Given the description of an element on the screen output the (x, y) to click on. 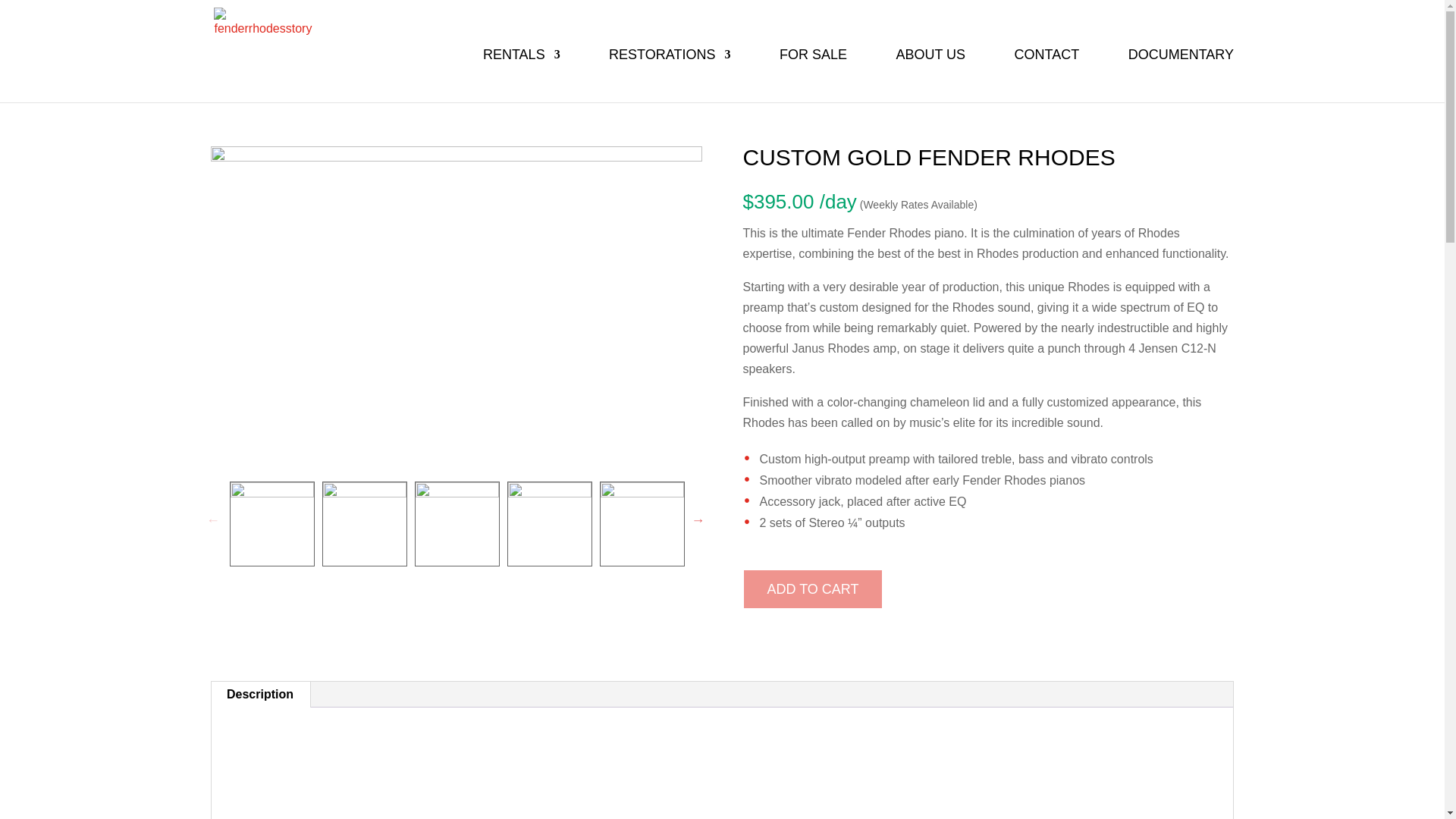
DOCUMENTARY (1180, 65)
YouTube video player (726, 782)
FOR SALE (812, 65)
ABOUT US (930, 65)
RENTALS (521, 65)
RESTORATIONS (669, 65)
CONTACT (1047, 65)
